Given the description of an element on the screen output the (x, y) to click on. 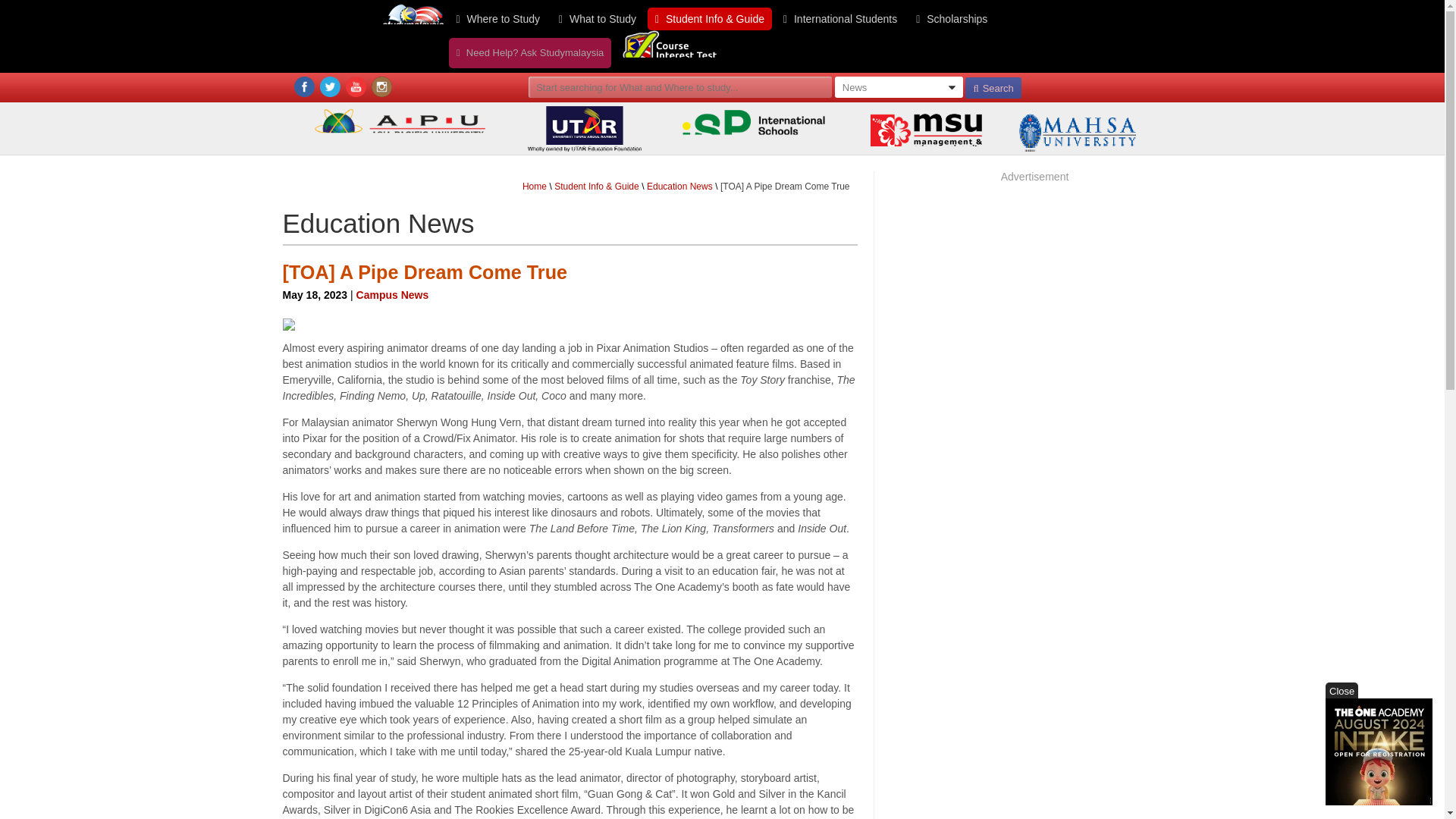
Guide on What to Study - Ask Studymalaysia (529, 51)
Twitter - StudyMalaysia.com (330, 93)
StudyMalaysia.com (412, 34)
Need Help? Ask Studymalaysia (529, 51)
What to Study (597, 18)
Need Help? Ask Studymalaysia (529, 52)
International Students (840, 18)
YouTube - StudyMalaysia.com (356, 86)
Facebook - StudyMalaysia.com (304, 86)
Scholarships (951, 18)
